Given the description of an element on the screen output the (x, y) to click on. 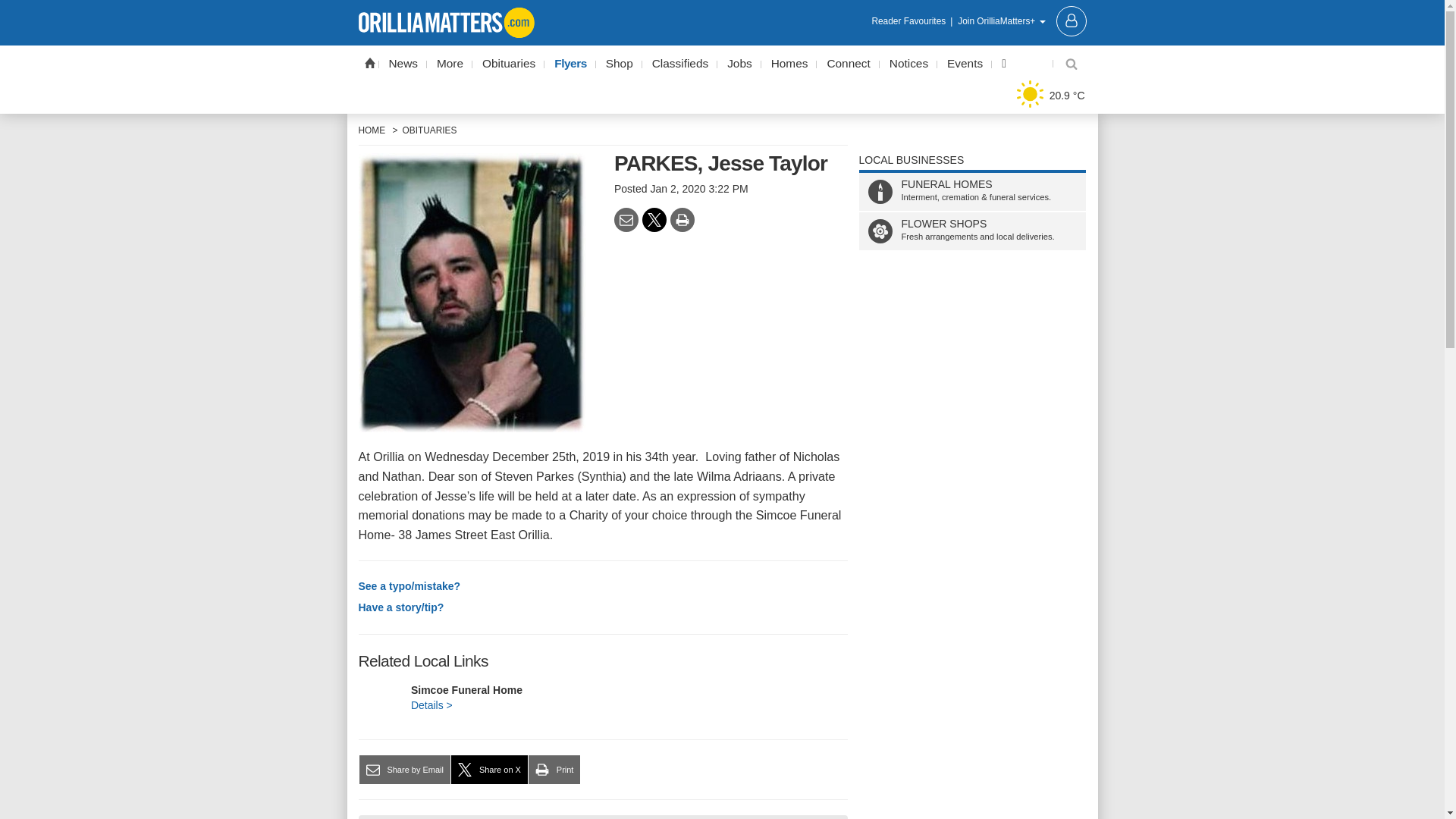
News (403, 64)
Home (368, 62)
Reader Favourites (912, 21)
